Given the description of an element on the screen output the (x, y) to click on. 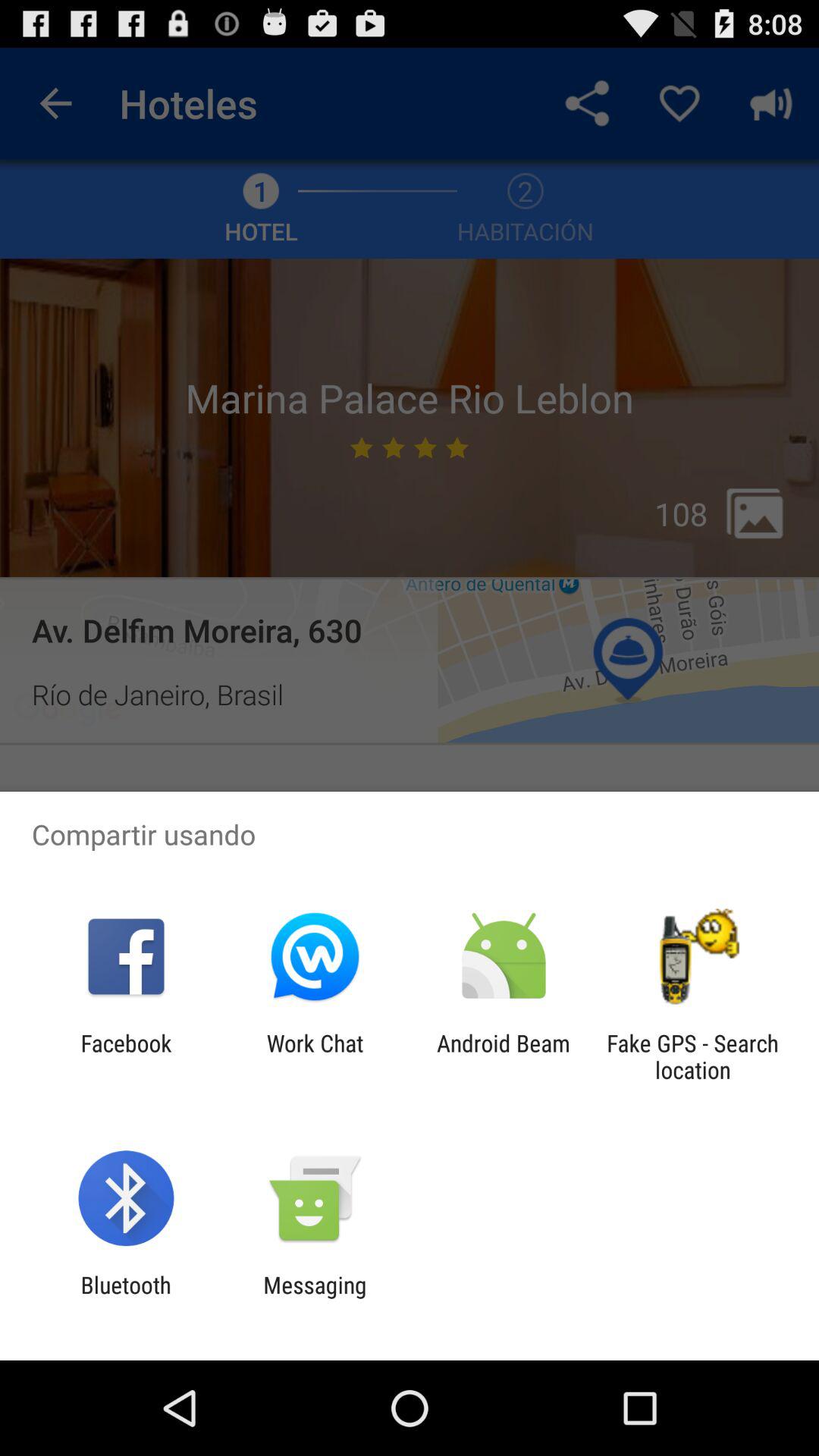
click the item to the right of android beam item (692, 1056)
